Given the description of an element on the screen output the (x, y) to click on. 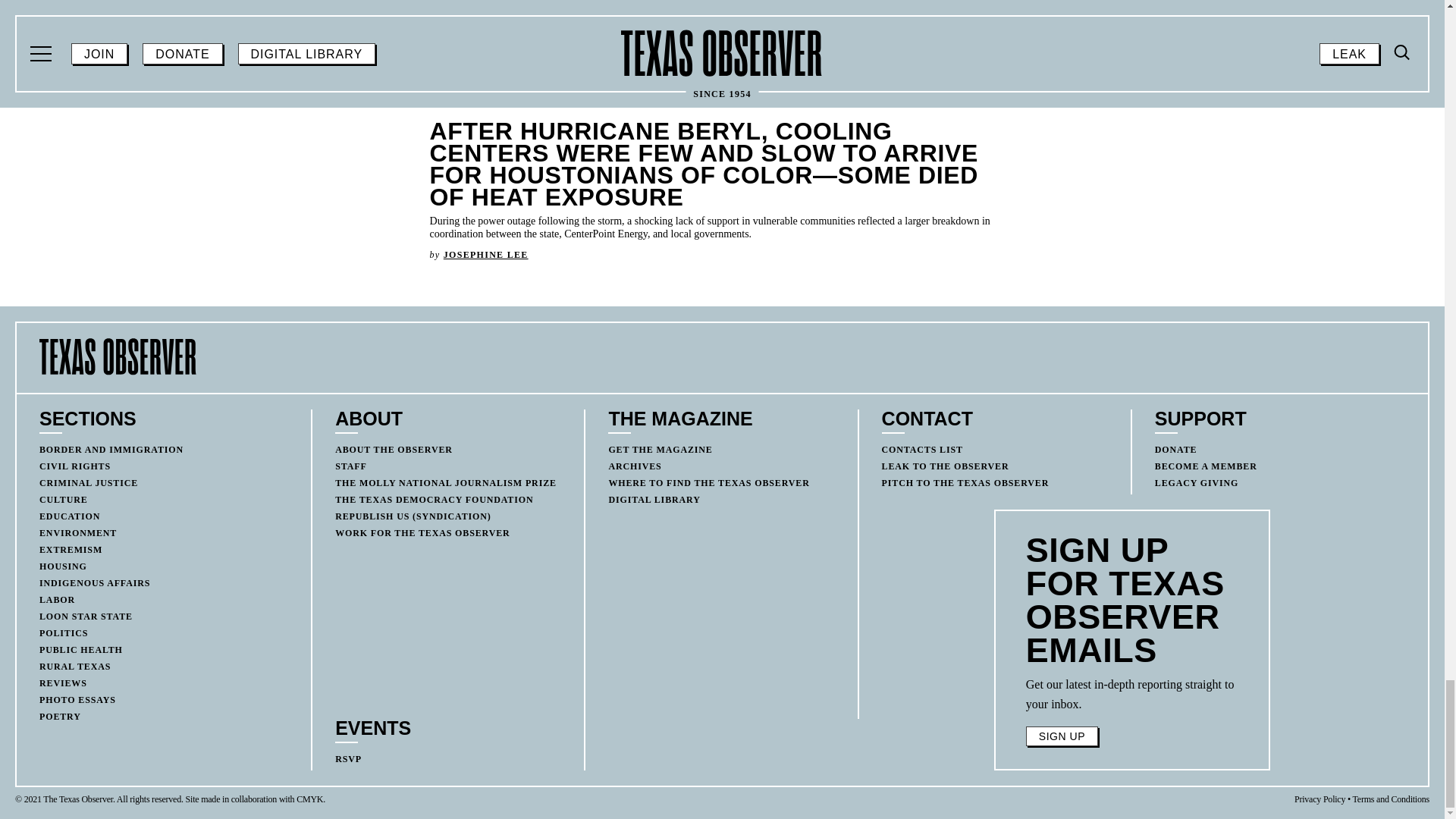
Page 6 (1132, 694)
Post by Gus Bova (55, 97)
Post by Josephine Lee (486, 254)
Post by The Texas Democracy Foundation (1156, 88)
